Given the description of an element on the screen output the (x, y) to click on. 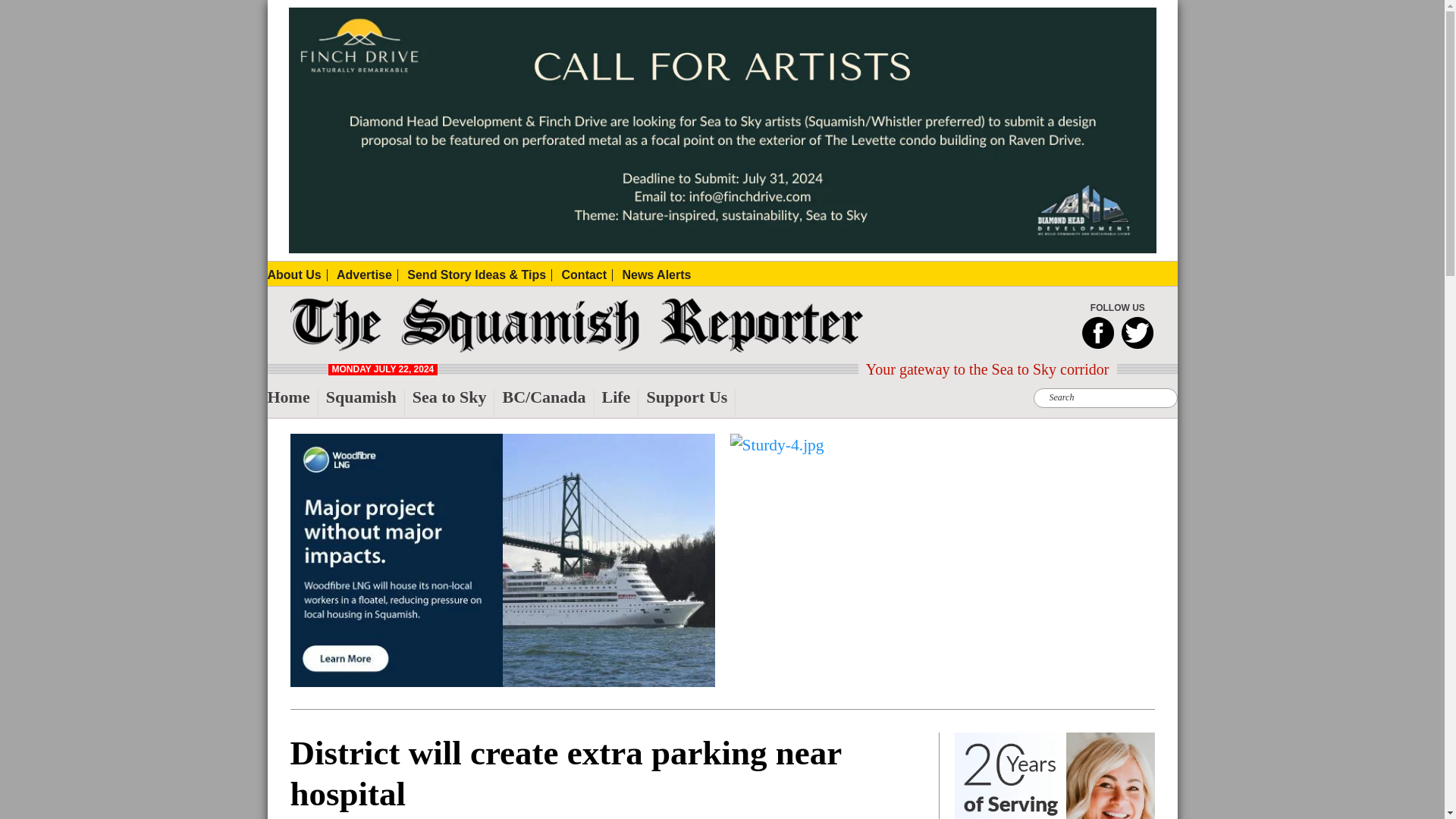
News Alerts (655, 275)
Squamish (365, 402)
The Squamish Reporter (321, 347)
Sea to Sky (453, 402)
Search (455, 9)
Contact (587, 275)
Life (620, 402)
Support Us (690, 402)
Home (291, 402)
Advertise (366, 275)
About Us (296, 275)
